Given the description of an element on the screen output the (x, y) to click on. 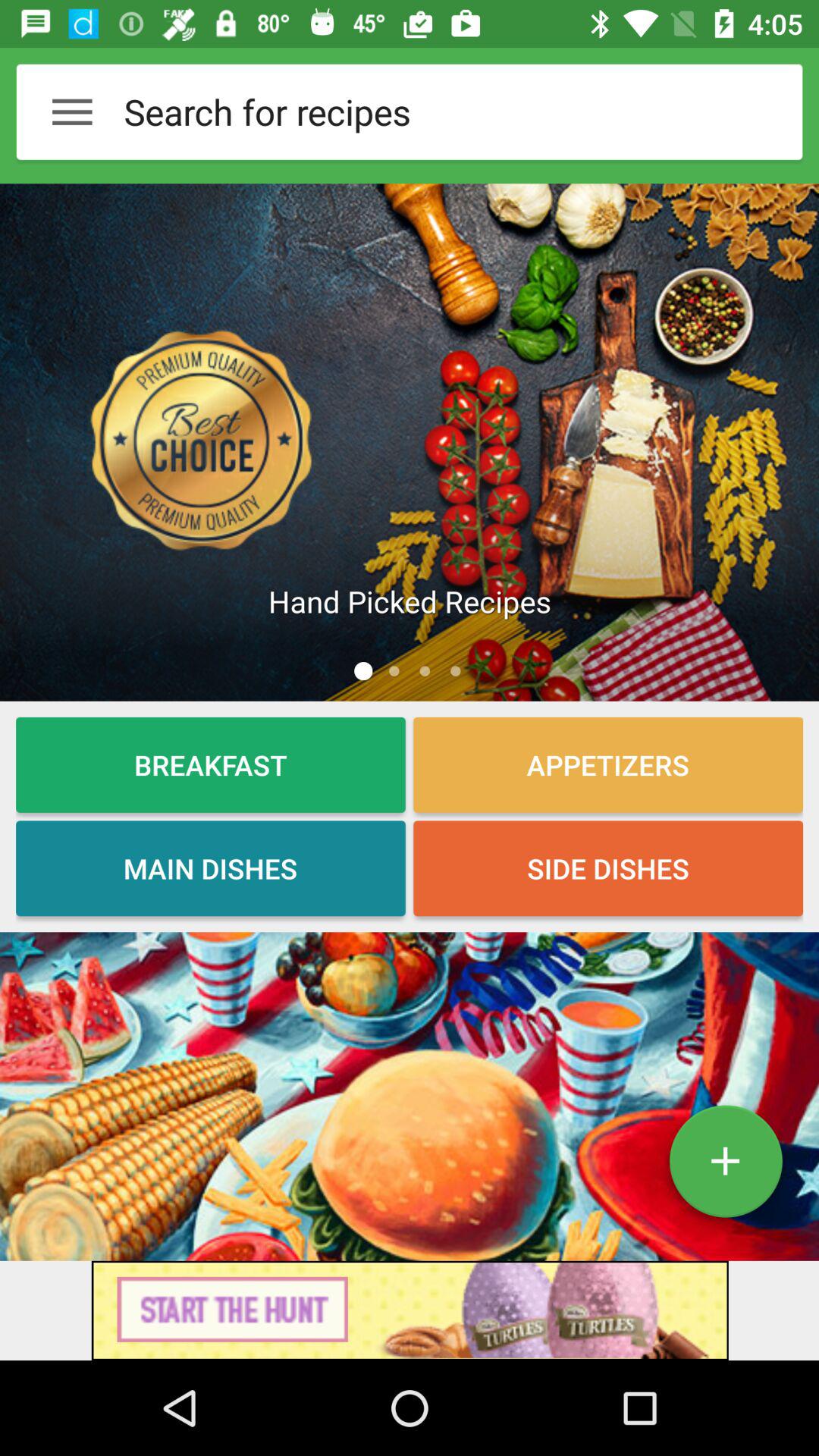
choose advertisement (409, 1310)
